Given the description of an element on the screen output the (x, y) to click on. 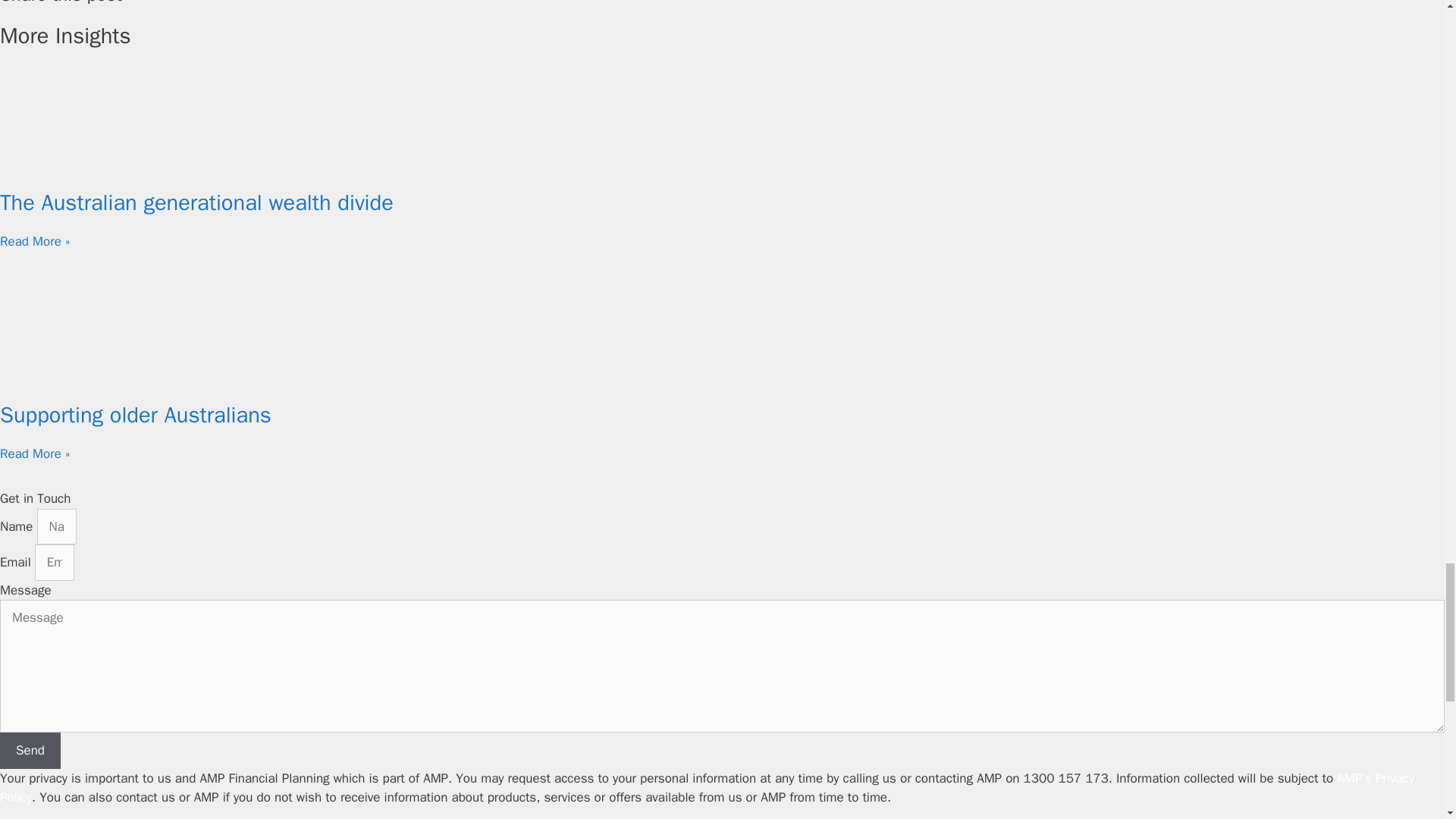
Send (30, 750)
The Australian generational wealth divide (196, 203)
Supporting older Australians (135, 415)
